Given the description of an element on the screen output the (x, y) to click on. 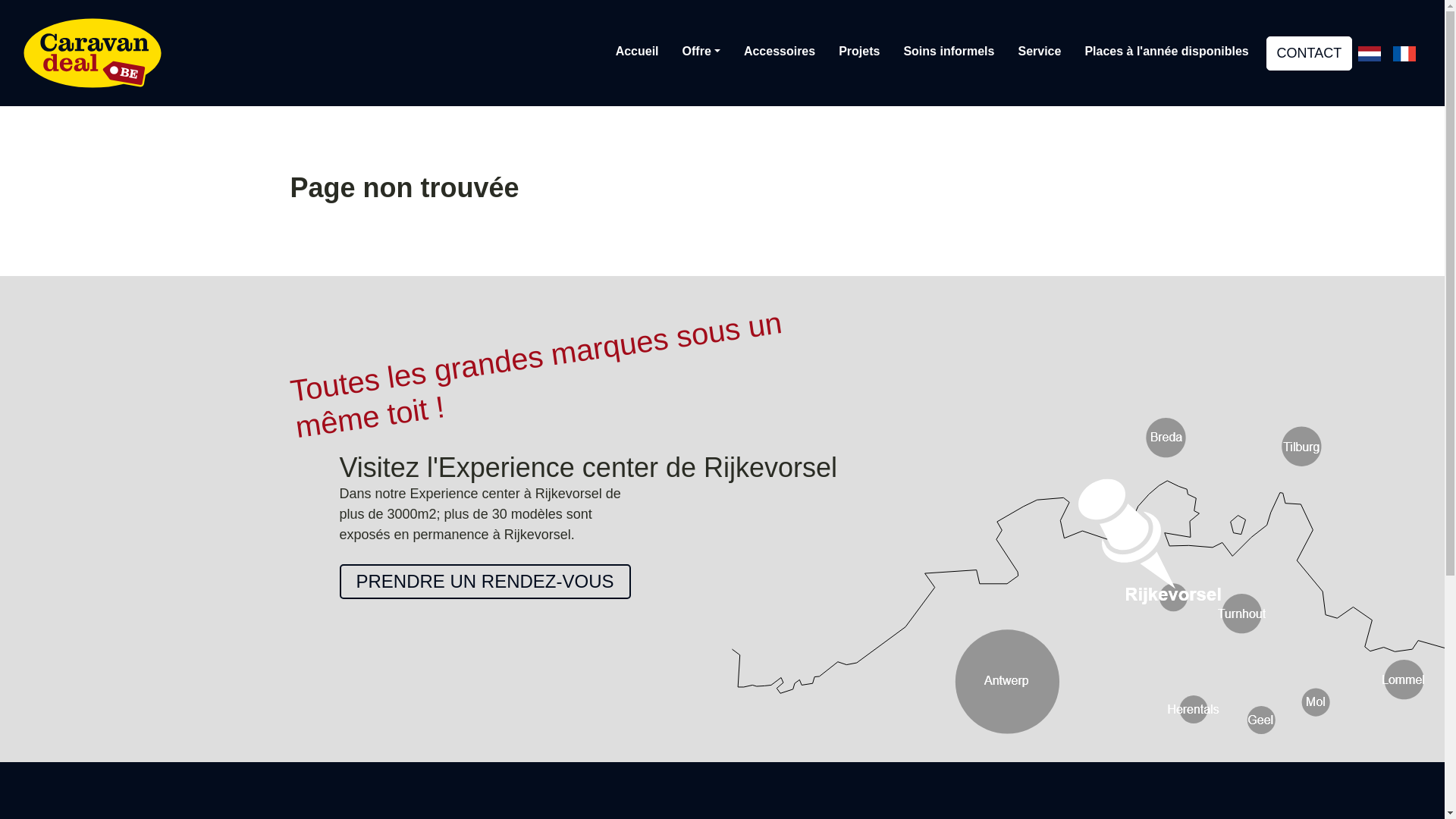
Offre Element type: text (701, 51)
Projets Element type: text (858, 51)
Service Element type: text (1038, 51)
CONTACT Element type: text (1309, 53)
Accueil Element type: text (637, 51)
Soins informels Element type: text (948, 51)
Accessoires Element type: text (779, 51)
PRENDRE UN RENDEZ-VOUS Element type: text (484, 581)
